Given the description of an element on the screen output the (x, y) to click on. 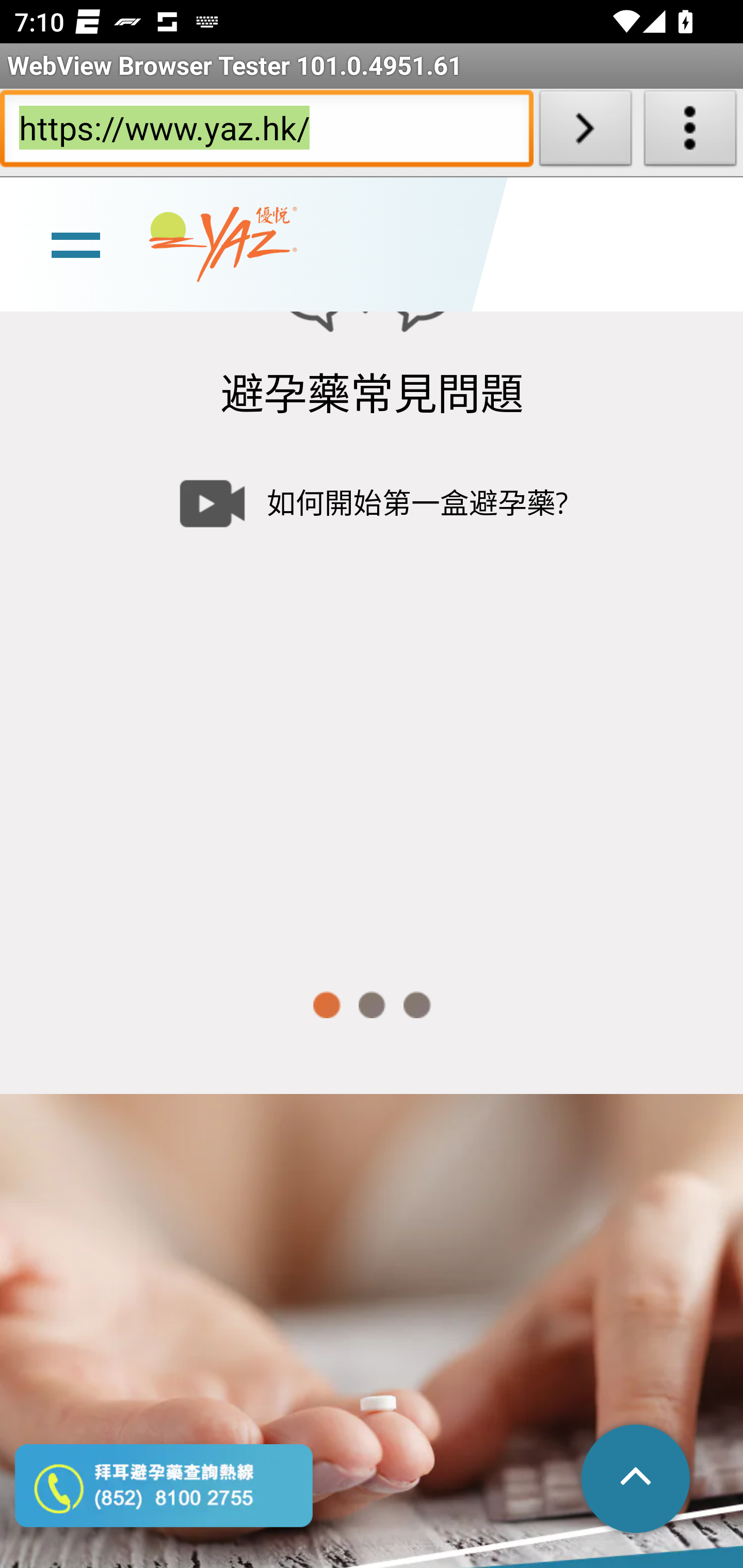
https://www.yaz.hk/ (266, 132)
Load URL (585, 132)
About WebView (690, 132)
www.yaz (222, 244)
line Toggle burger menu (75, 242)
slide 1 如何開始第一盒避孕藥? Video Player Video Player (371, 694)
1 of 3 (326, 1004)
2 of 3 (371, 1004)
3 of 3 (416, 1004)
 (636, 1480)
